Given the description of an element on the screen output the (x, y) to click on. 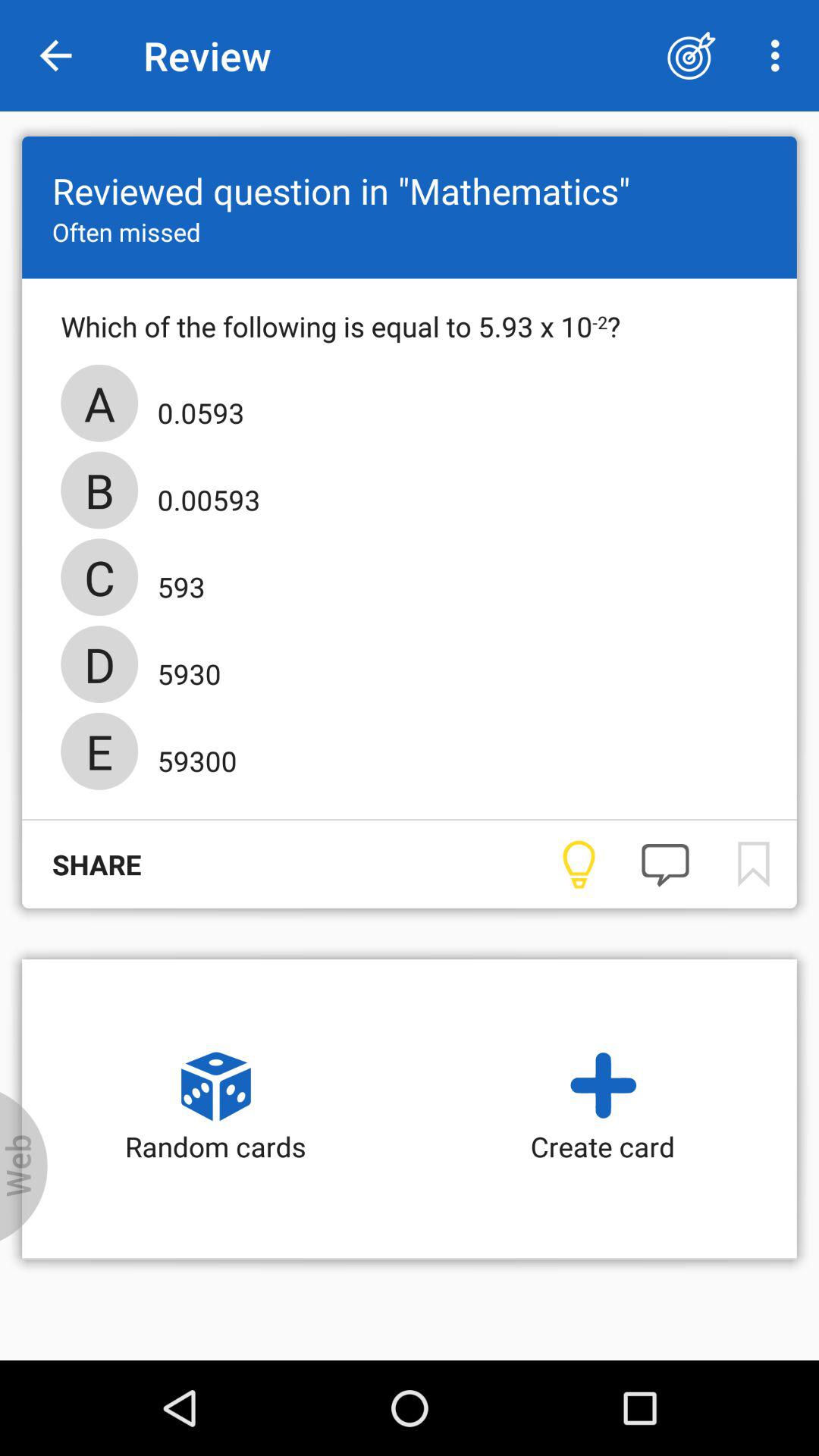
bookmark question (752, 864)
